Given the description of an element on the screen output the (x, y) to click on. 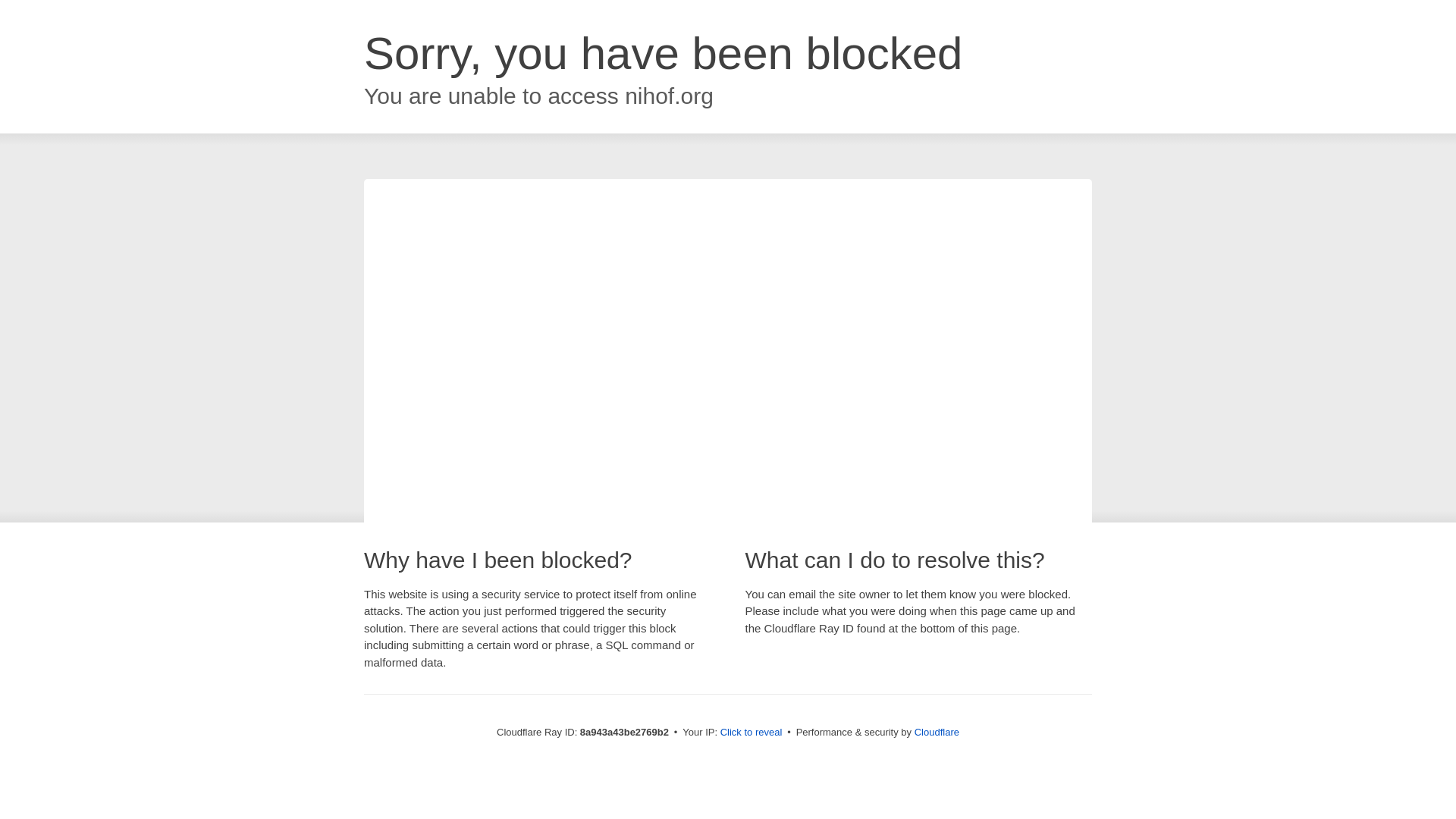
Cloudflare (936, 731)
Click to reveal (751, 732)
